Given the description of an element on the screen output the (x, y) to click on. 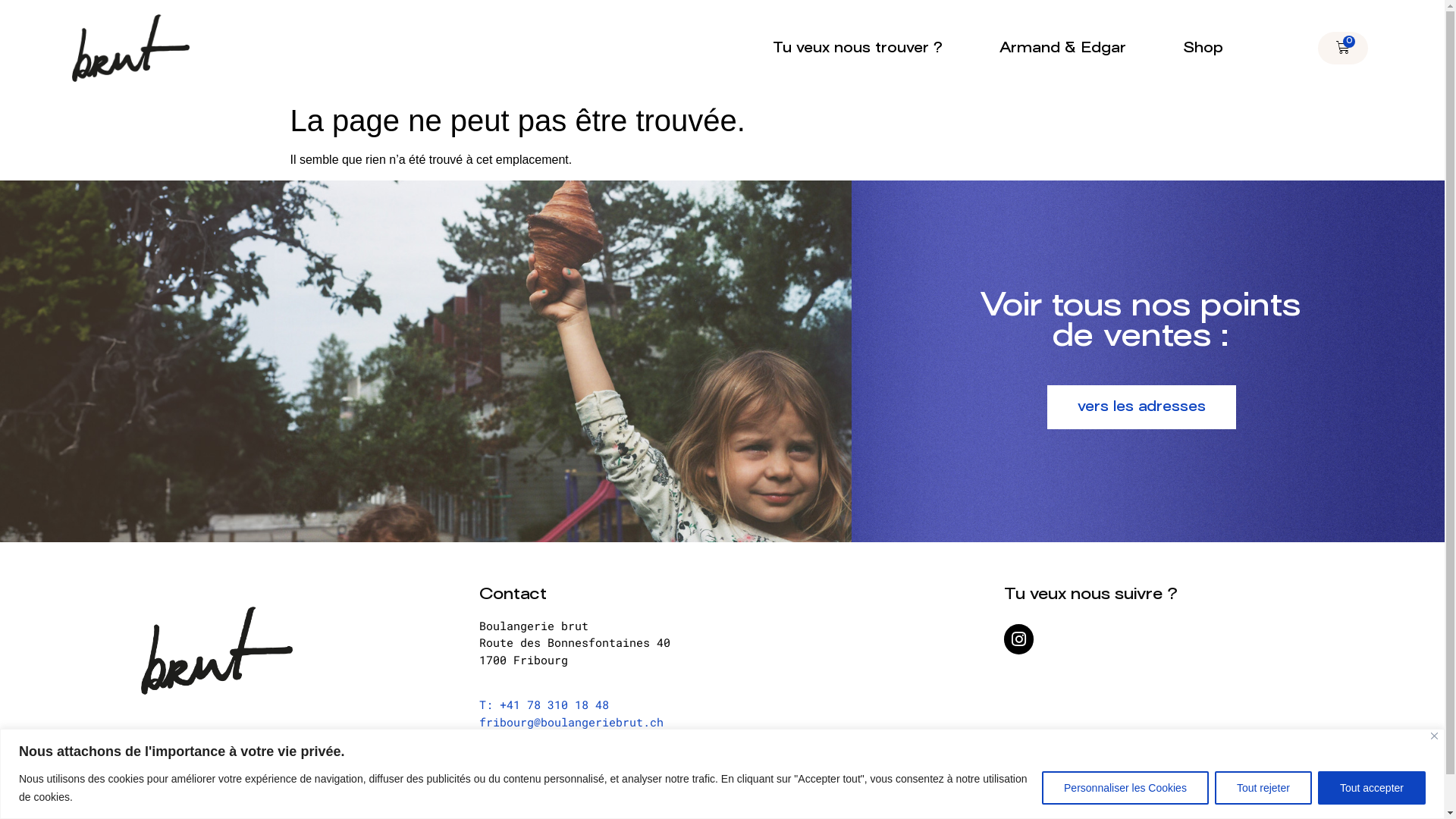
Tout rejeter Element type: text (1262, 786)
T: +41 78 310 18 48 Element type: text (543, 712)
Personnaliser les Cookies Element type: text (1124, 786)
log_brut_icone Element type: hover (130, 47)
Tout accepter Element type: text (1371, 786)
0 Element type: text (1342, 47)
fribourg@boulangeriebrut.ch Element type: text (571, 721)
Shop Element type: text (1202, 48)
Tu veux nous trouver ? Element type: text (857, 48)
Armand & Edgar Element type: text (1062, 48)
vers les adresses Element type: text (1141, 407)
